Given the description of an element on the screen output the (x, y) to click on. 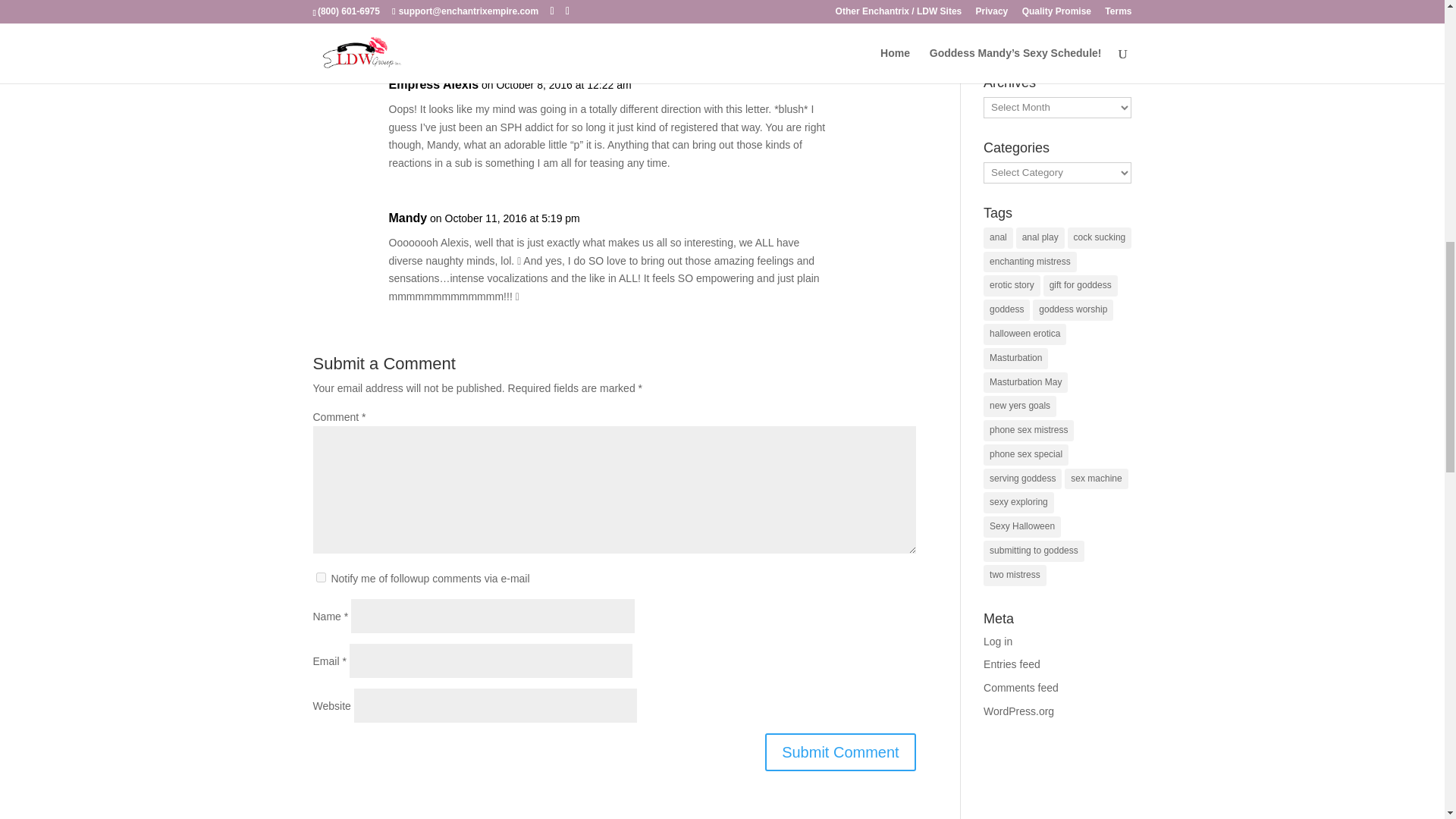
goddess (1006, 310)
cock sucking (1099, 237)
gift for goddess (1080, 285)
Empress Alexis (433, 85)
erotic story (1012, 285)
Submit Comment (840, 752)
Submit Comment (840, 752)
goddess worship (1072, 310)
anal play (1040, 237)
subscribe (319, 577)
anal (998, 237)
enchanting mistress (1030, 261)
